Given the description of an element on the screen output the (x, y) to click on. 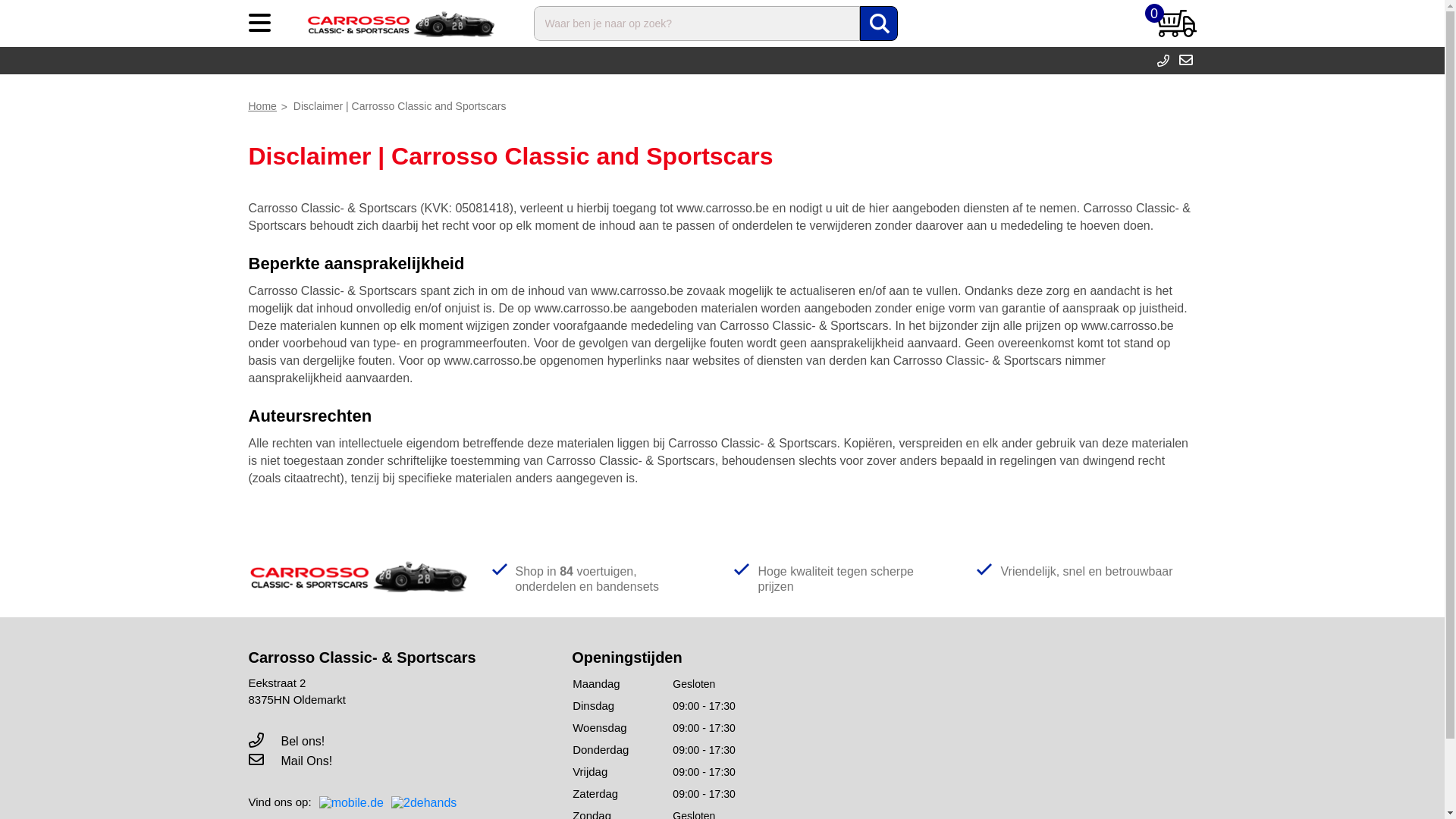
Home Element type: text (267, 106)
   Element type: text (1168, 60)
    Mail Ons! Element type: text (290, 760)
    Bel ons! Element type: text (286, 740)
